Given the description of an element on the screen output the (x, y) to click on. 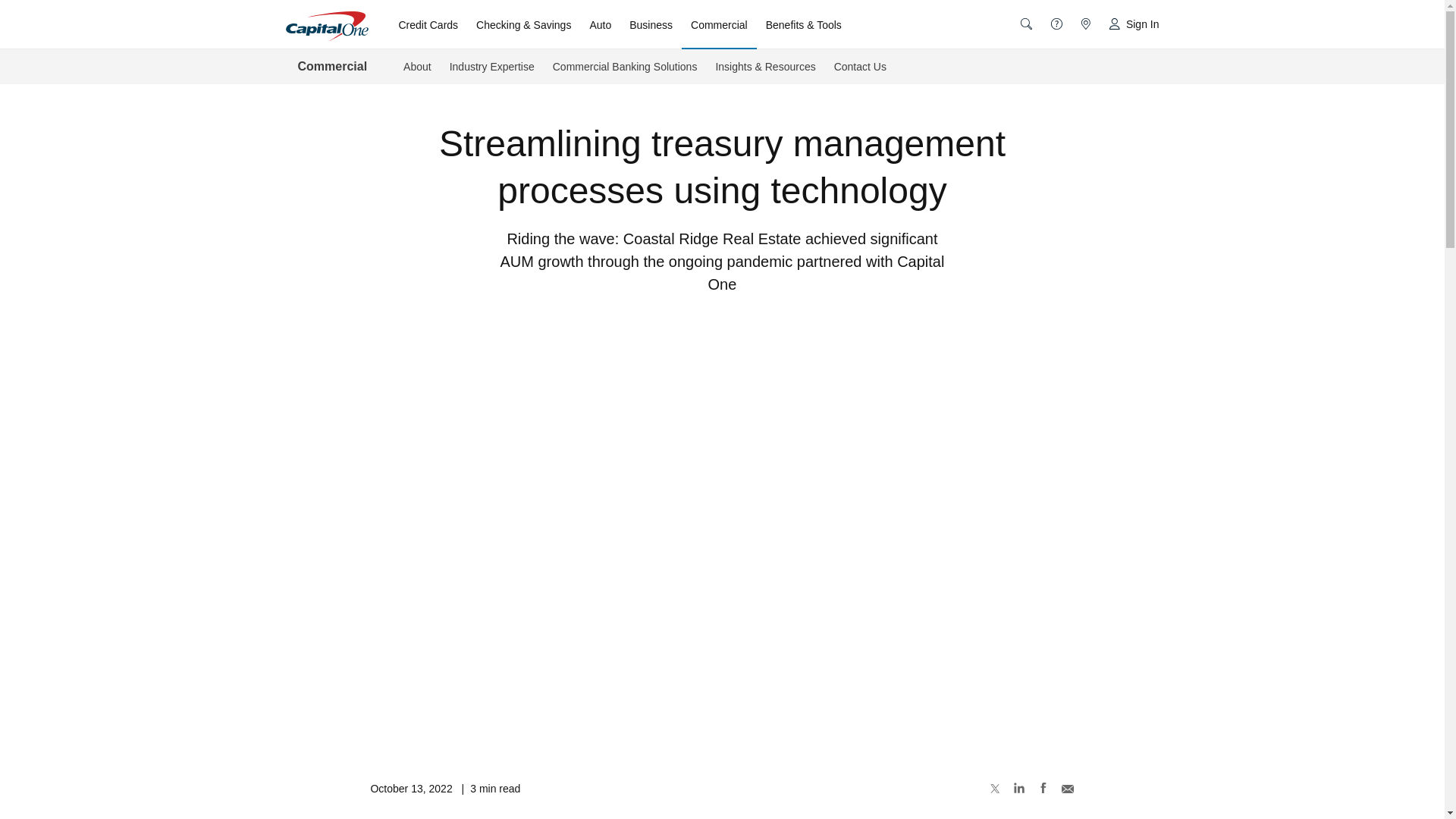
Commercial (719, 24)
Business (650, 24)
Sign In (1129, 24)
Credit Cards (428, 24)
